Given the description of an element on the screen output the (x, y) to click on. 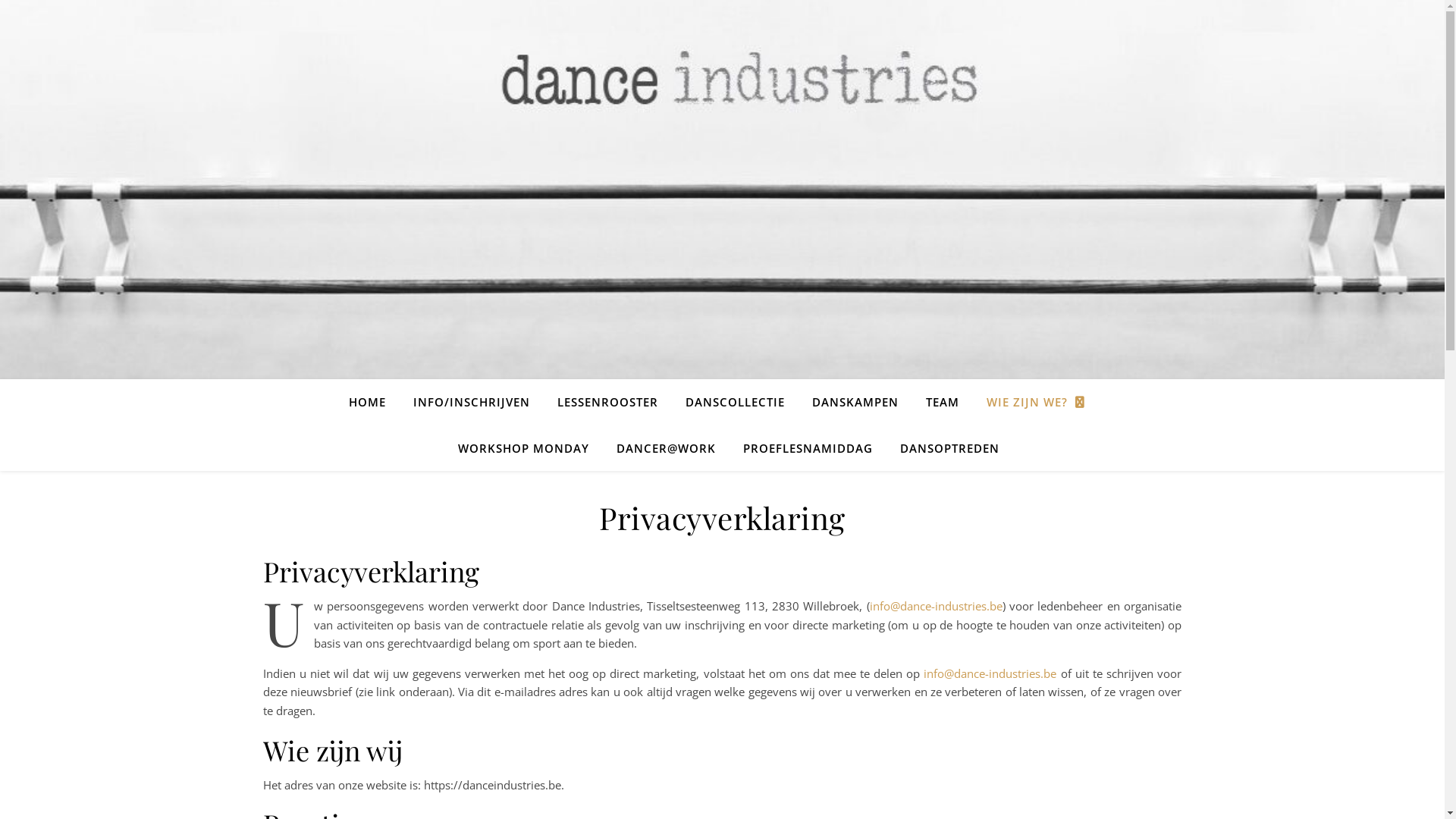
WORKSHOP MONDAY Element type: text (523, 447)
DANSOPTREDEN Element type: text (942, 447)
HOME Element type: text (373, 401)
info@dance-industries.be Element type: text (989, 672)
DANSKAMPEN Element type: text (854, 401)
WIE ZIJN WE? Element type: text (1034, 402)
LESSENROOSTER Element type: text (606, 401)
DANCER@WORK Element type: text (665, 447)
info@dance-industries.be Element type: text (935, 605)
TEAM Element type: text (941, 401)
PROEFLESNAMIDDAG Element type: text (807, 447)
DANSCOLLECTIE Element type: text (735, 401)
INFO/INSCHRIJVEN Element type: text (470, 401)
